Given the description of an element on the screen output the (x, y) to click on. 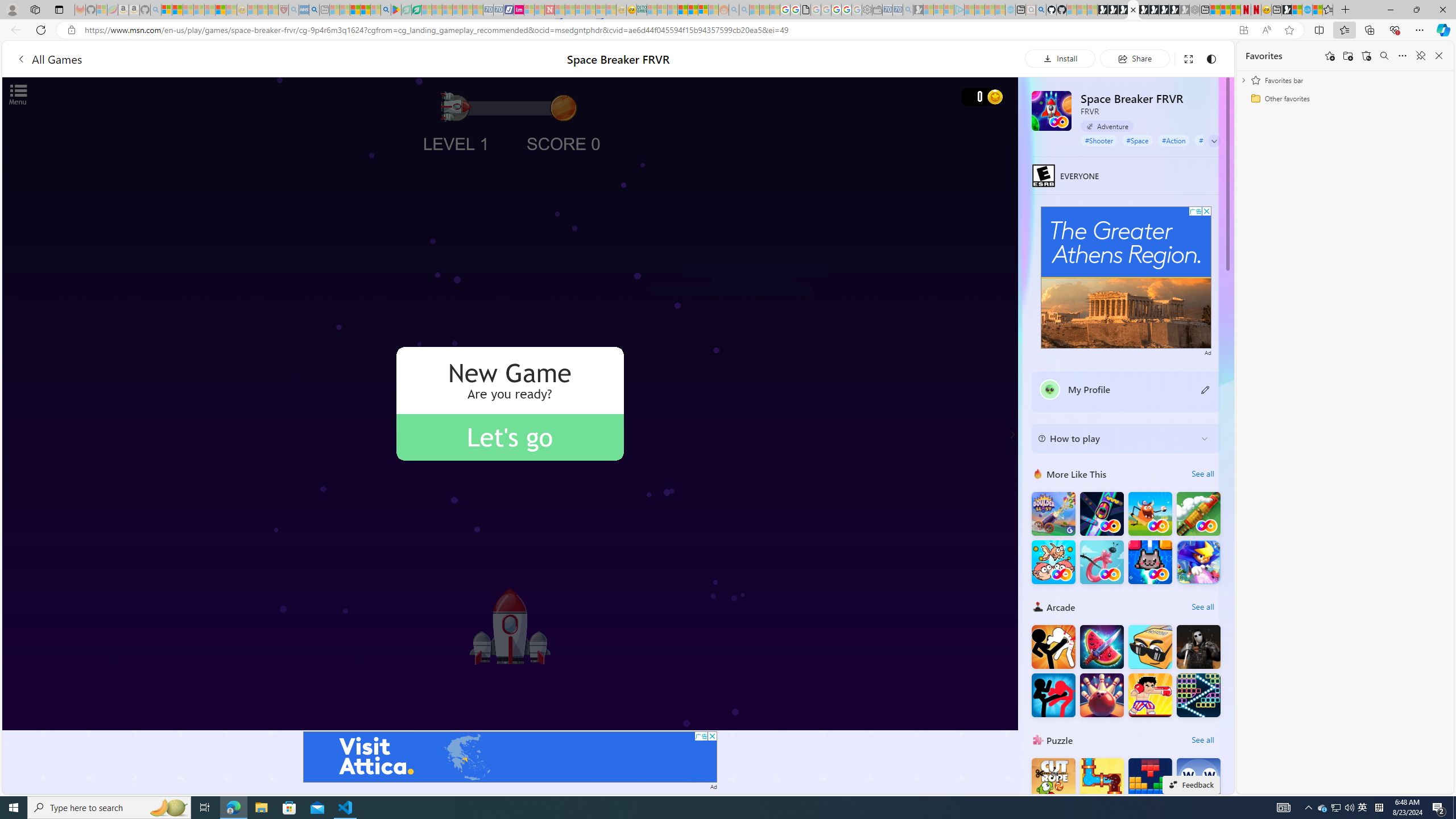
More Like This (1037, 473)
Fruit Chopper (1101, 646)
Kinda Frugal - MSN (692, 9)
Words of Wonders (1198, 779)
See all (1202, 739)
Add this page to favorites (1330, 55)
Fish Merge FRVR (1053, 562)
